Given the description of an element on the screen output the (x, y) to click on. 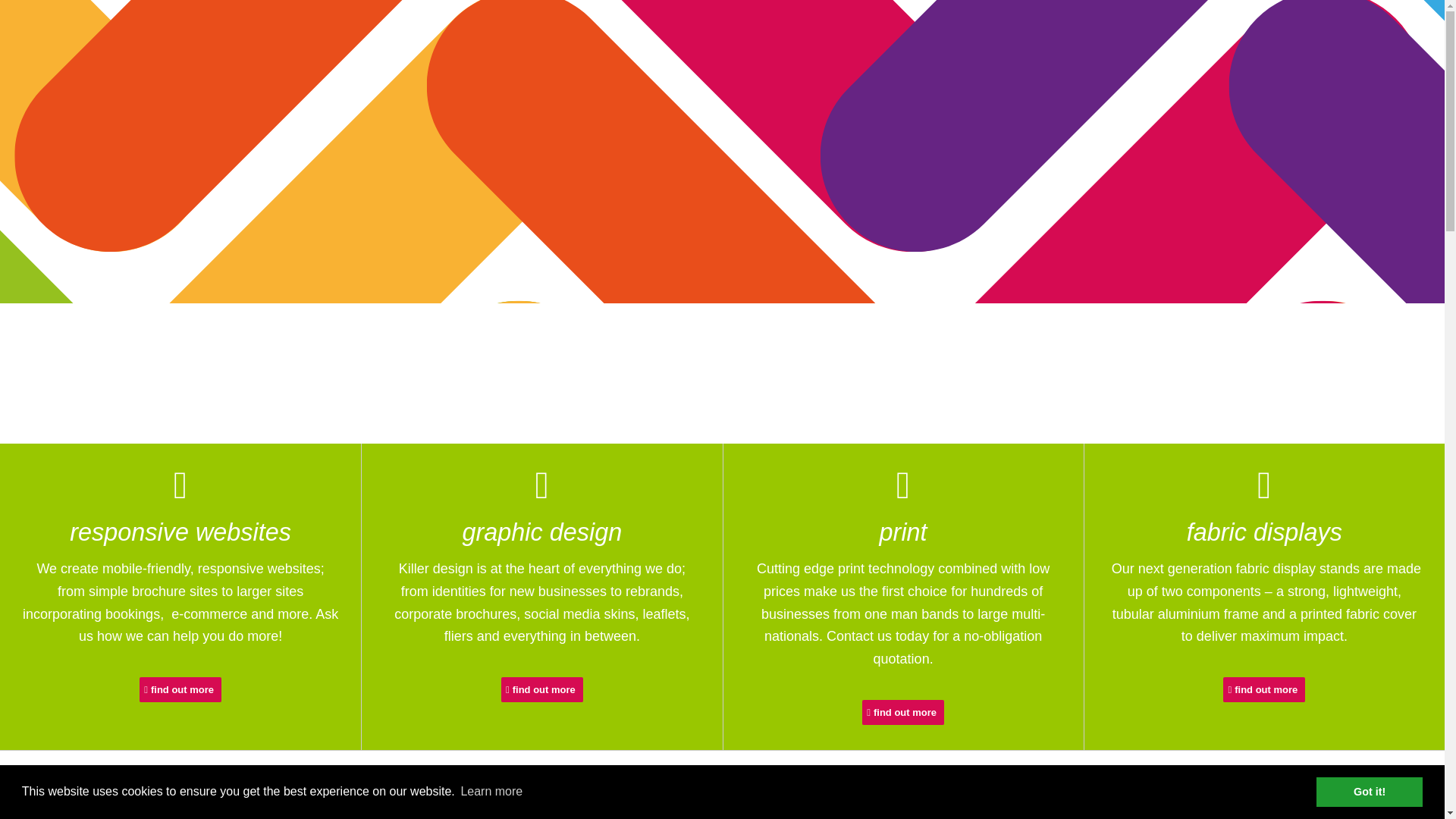
seo-certified-norwich-north (1043, 803)
Got it! (1369, 791)
Learn more (491, 791)
